Given the description of an element on the screen output the (x, y) to click on. 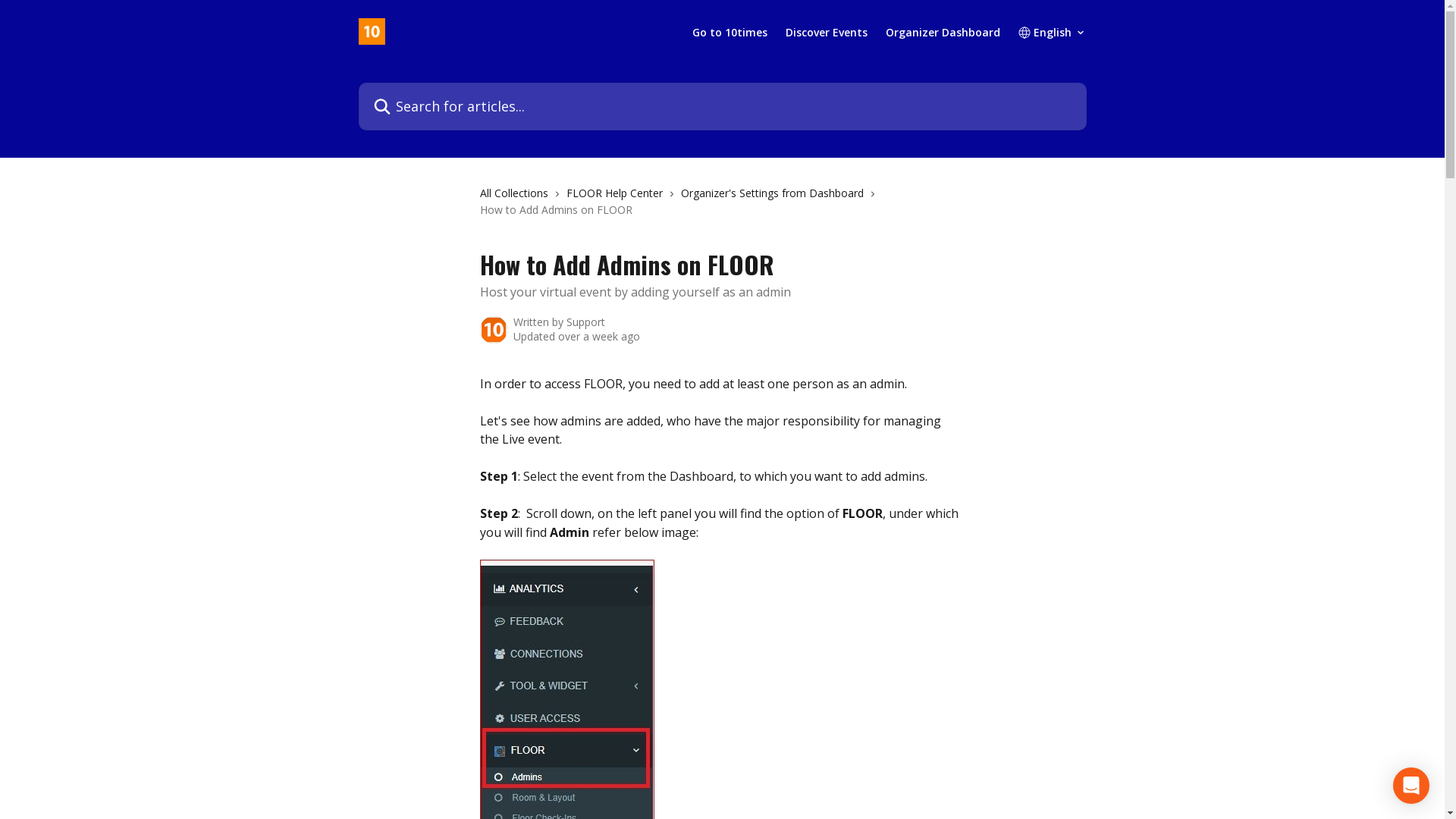
Organizer Dashboard Element type: text (942, 32)
All Collections Element type: text (516, 193)
Discover Events Element type: text (826, 32)
FLOOR Help Center Element type: text (616, 193)
Organizer's Settings from Dashboard Element type: text (774, 193)
Go to 10times Element type: text (728, 32)
